Given the description of an element on the screen output the (x, y) to click on. 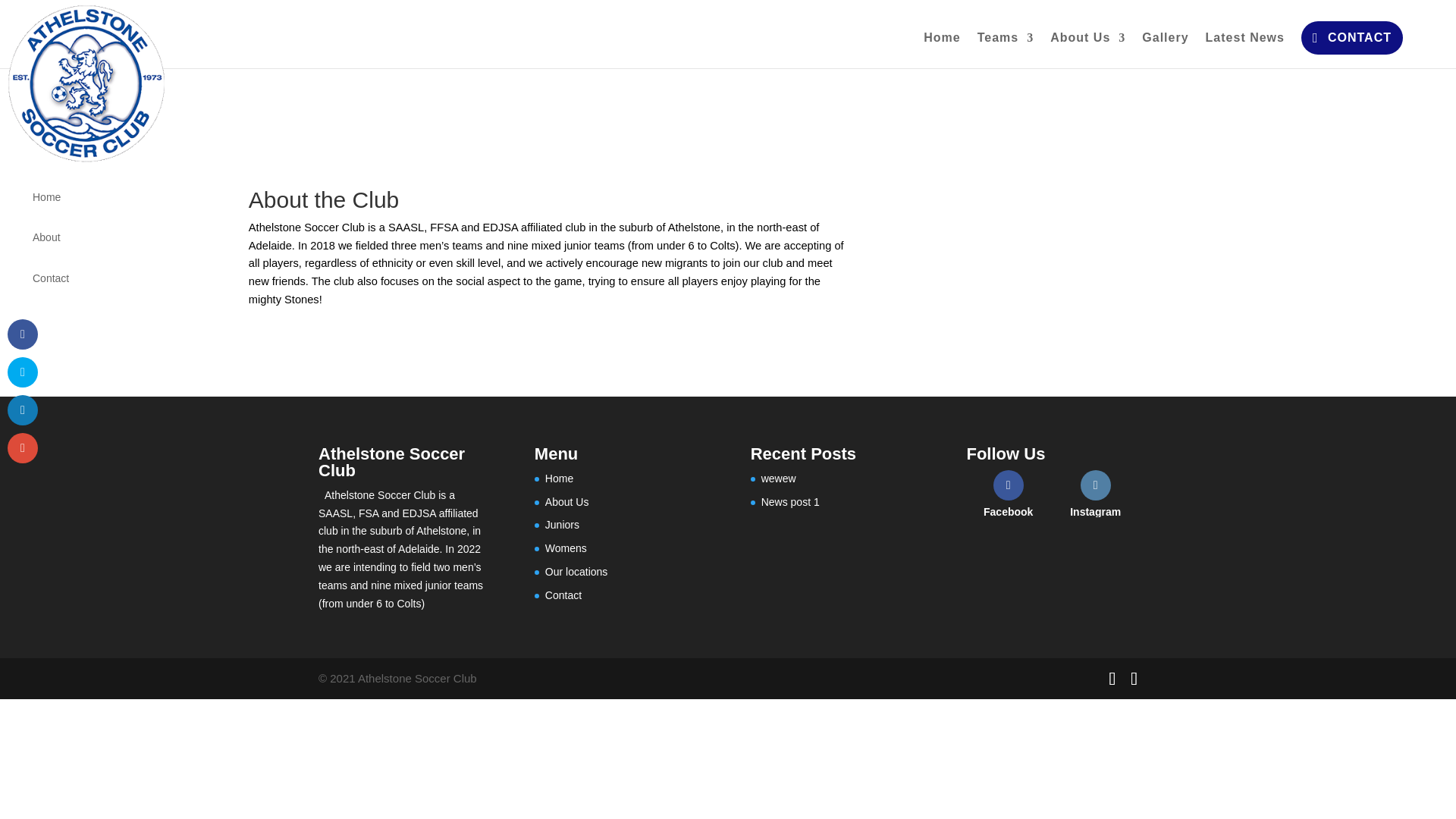
Latest News (1244, 49)
CONTACT (1352, 37)
Gallery (1164, 49)
Teams (1004, 49)
About Us (1087, 49)
Home (941, 49)
